Given the description of an element on the screen output the (x, y) to click on. 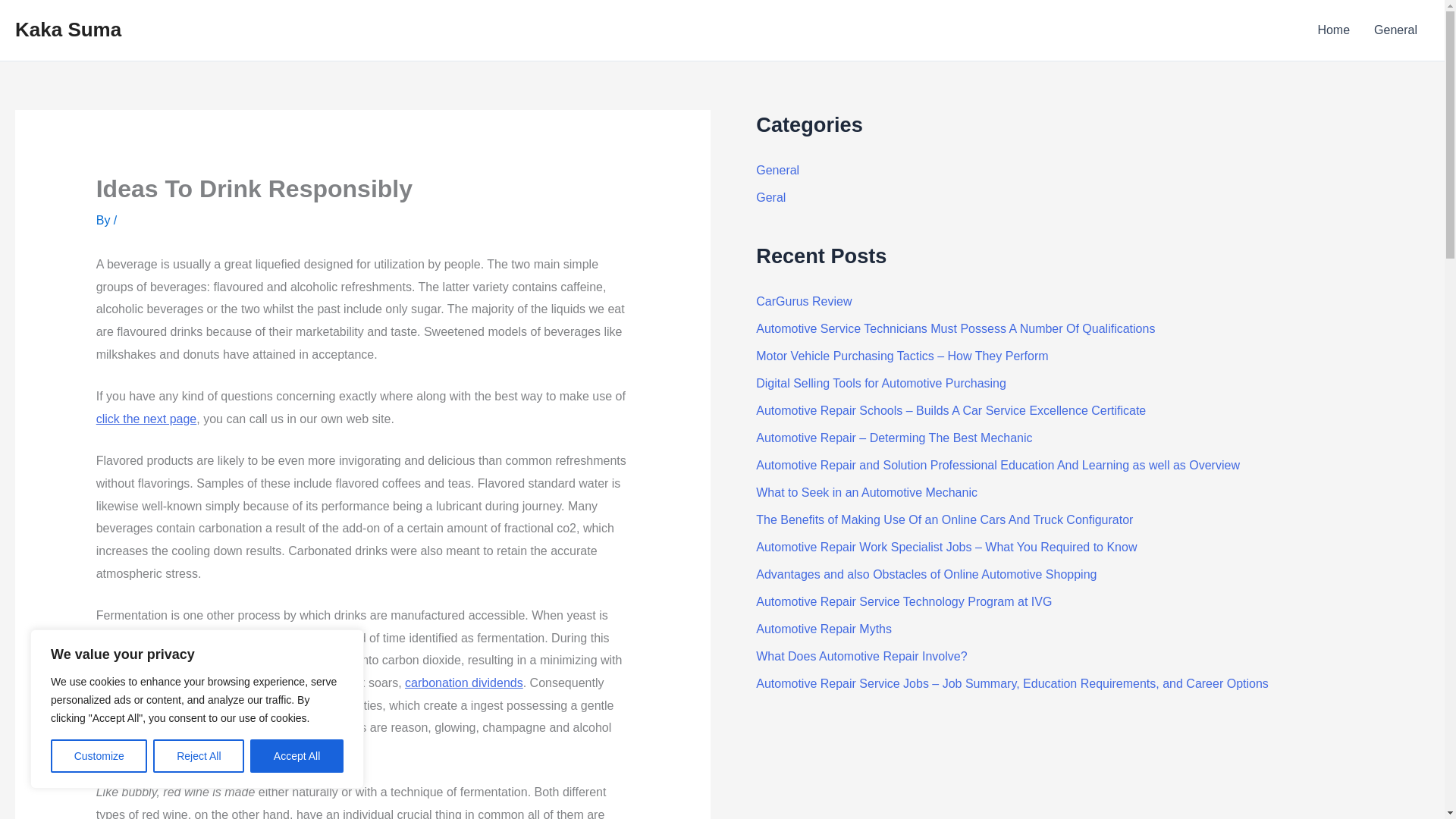
CarGurus Review (803, 300)
General (1395, 30)
Home (1332, 30)
Reject All (198, 756)
click the next page (146, 418)
carbonation dividends (463, 682)
General (777, 169)
Accept All (296, 756)
Customize (98, 756)
